Given the description of an element on the screen output the (x, y) to click on. 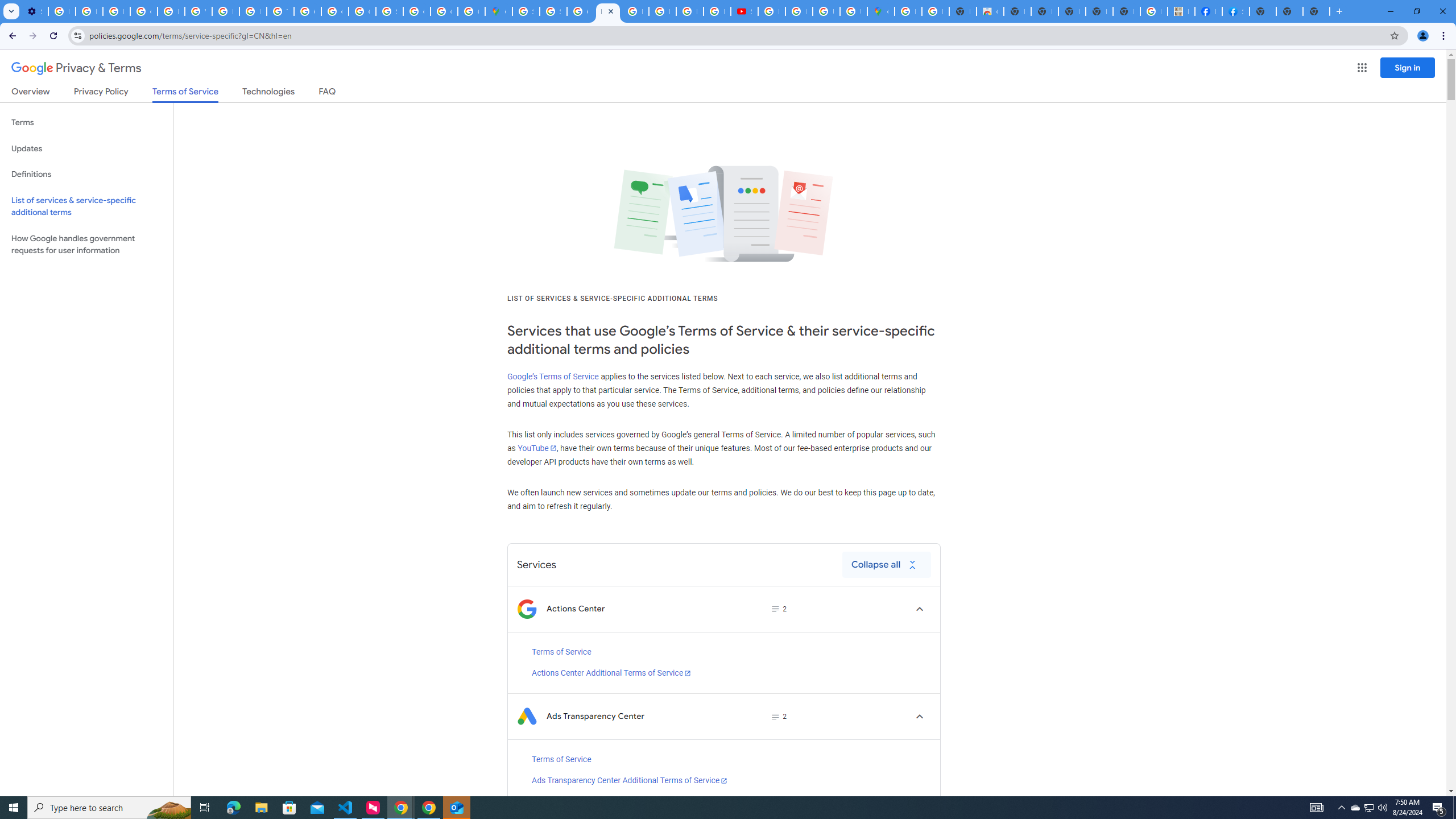
Privacy Help Center - Policies Help (253, 11)
Sign in - Google Accounts (389, 11)
Actions Center Additional Terms of Service (611, 673)
YouTube (536, 447)
Chrome Web Store (990, 11)
